Given the description of an element on the screen output the (x, y) to click on. 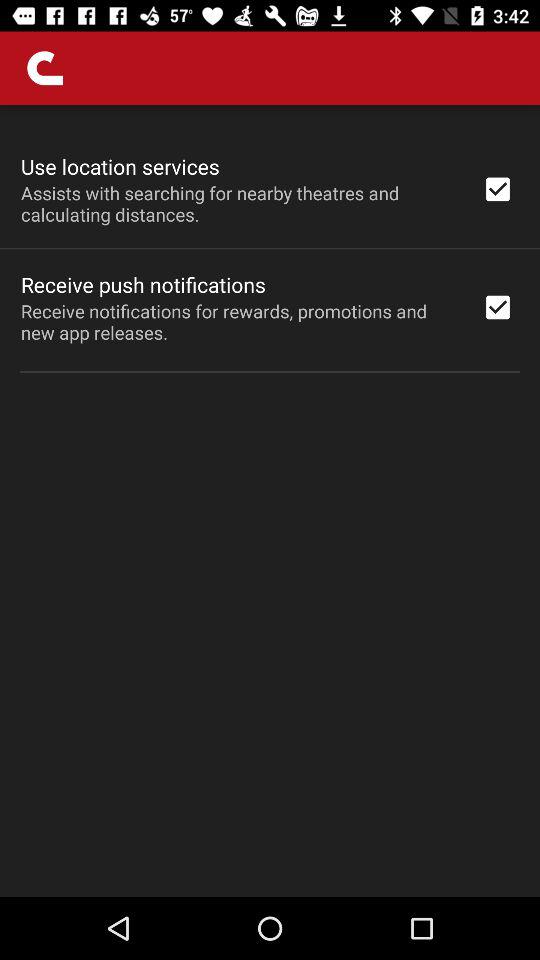
select the item above receive push notifications item (238, 203)
